Given the description of an element on the screen output the (x, y) to click on. 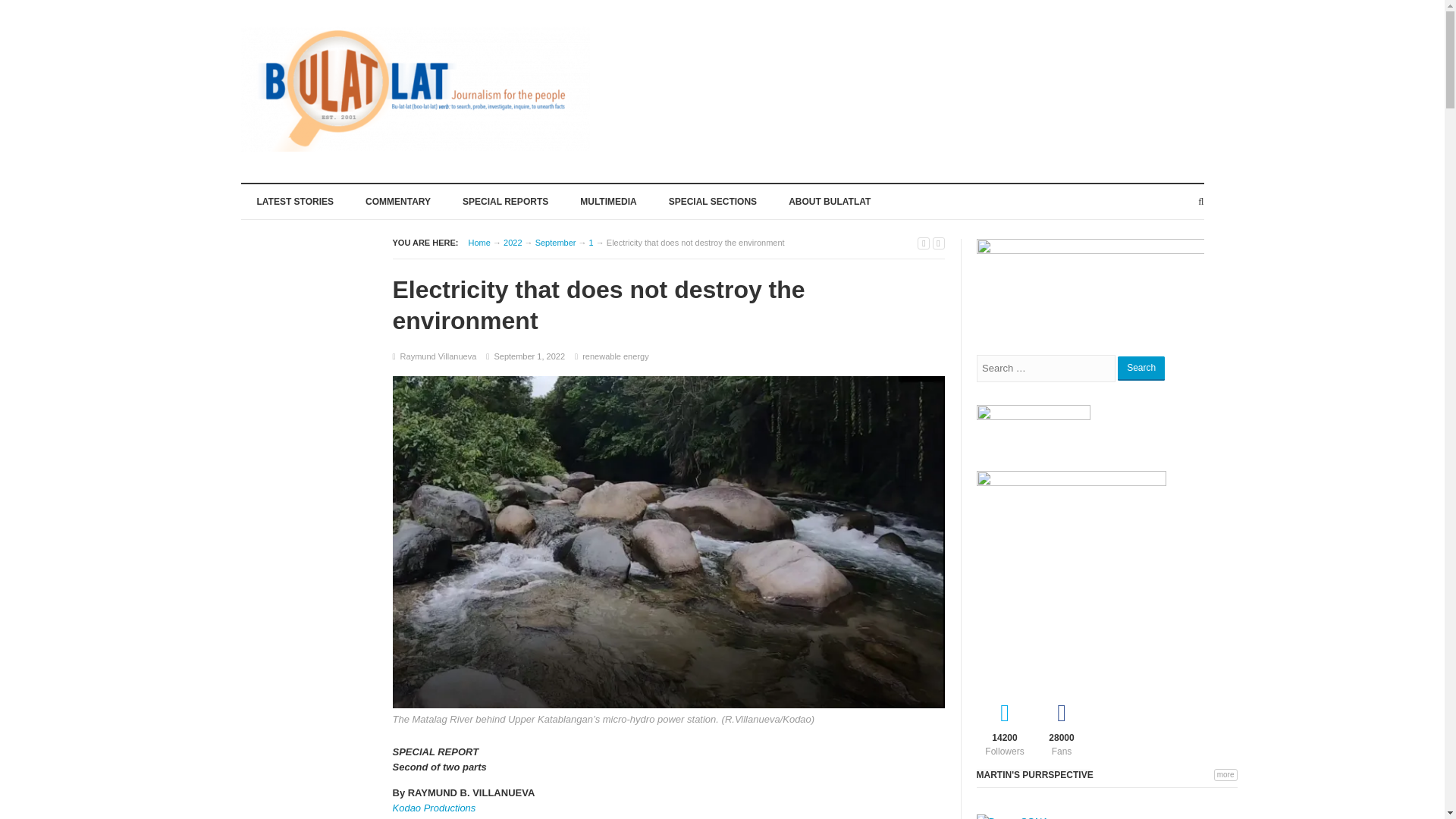
SPECIAL REPORTS (505, 200)
SPECIAL SECTIONS (713, 200)
LATEST STORIES (296, 200)
Twitter (1004, 726)
COMMENTARY (397, 200)
Thursday, September 1, 2022, 2:16 pm (528, 356)
Facebook (1060, 726)
MULTIMEDIA (608, 200)
Bulatlat (479, 242)
